Given the description of an element on the screen output the (x, y) to click on. 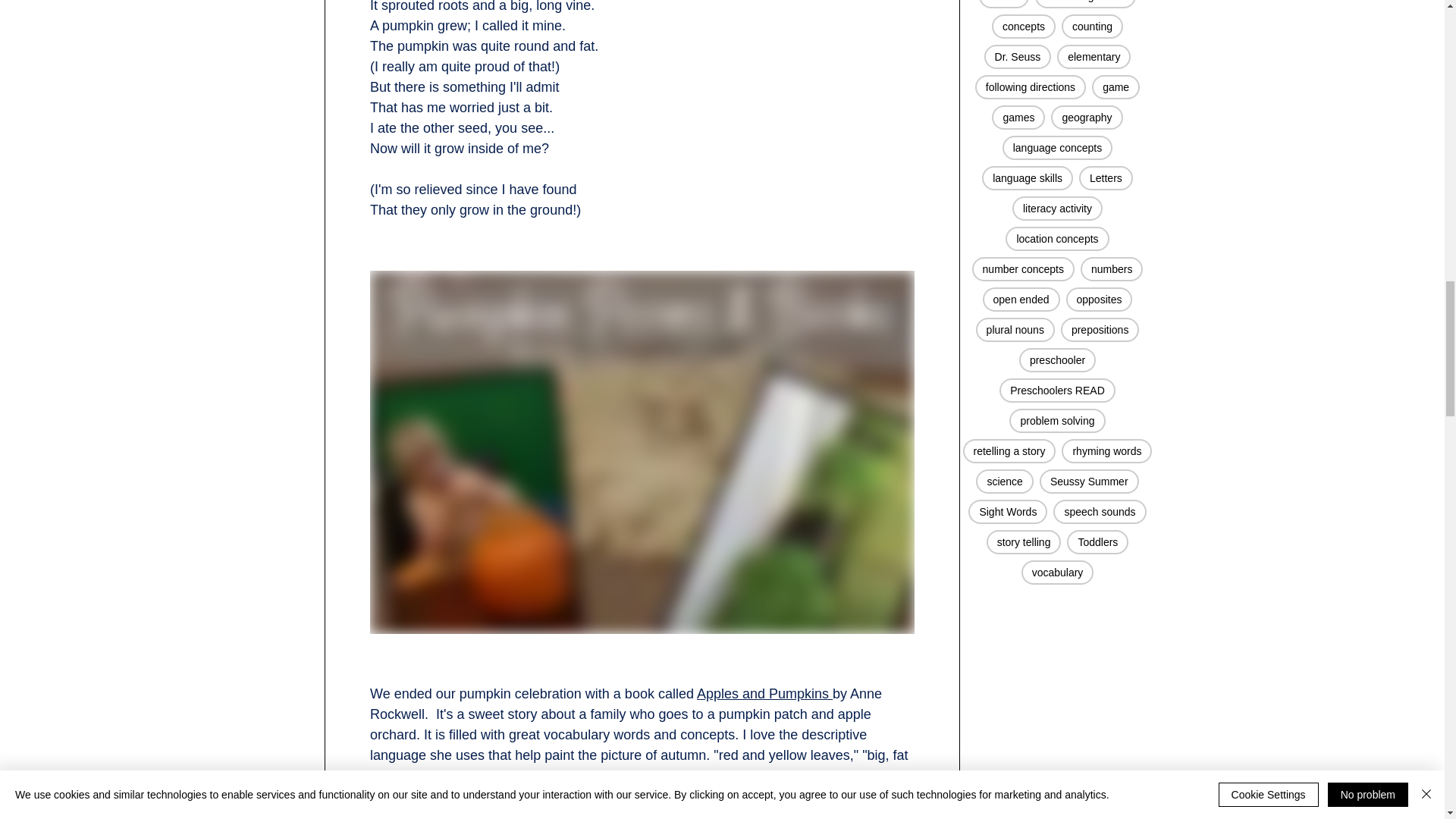
remote content (641, 813)
